Given the description of an element on the screen output the (x, y) to click on. 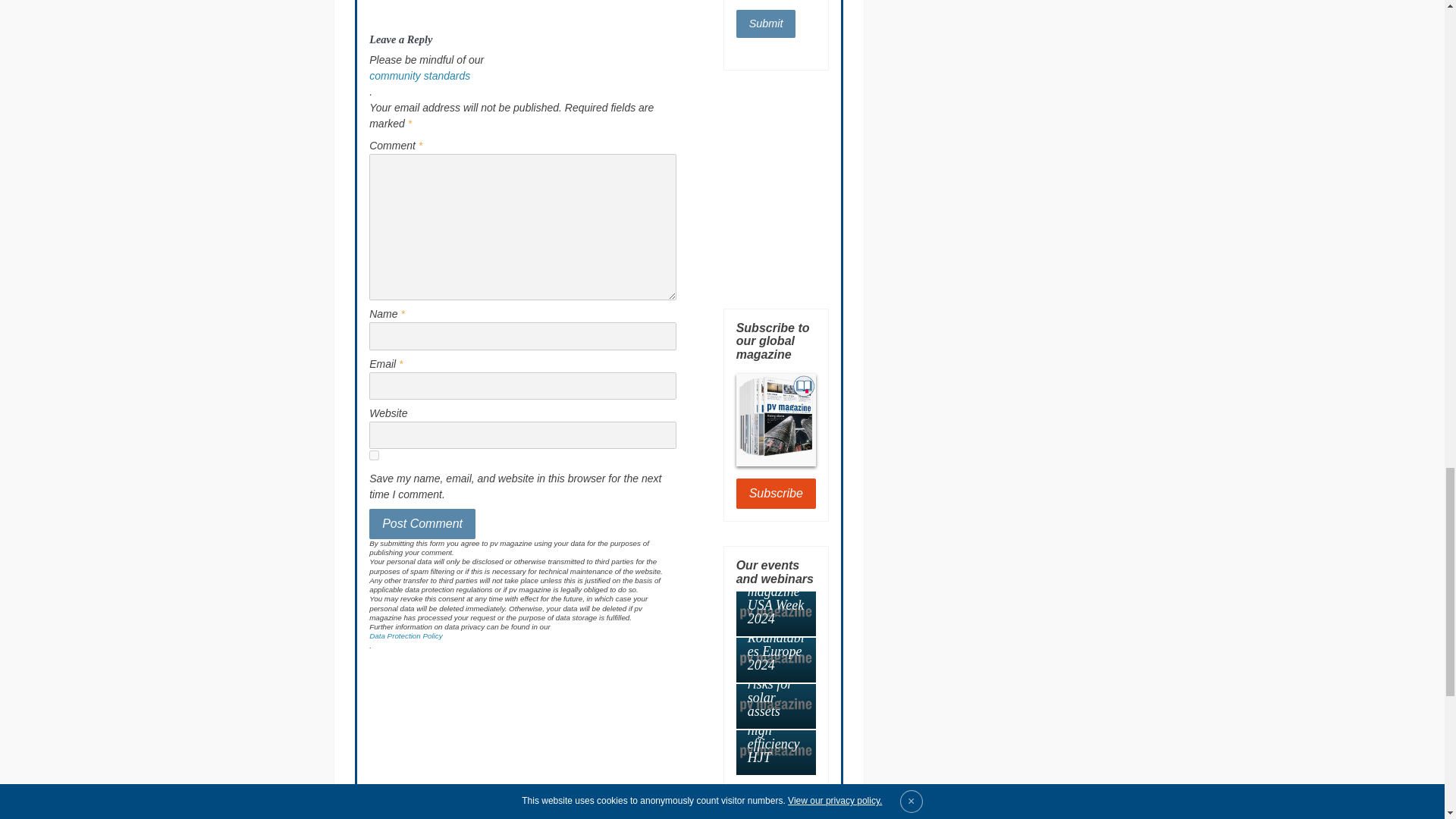
yes (373, 455)
Submit (766, 23)
Post Comment (422, 523)
